Given the description of an element on the screen output the (x, y) to click on. 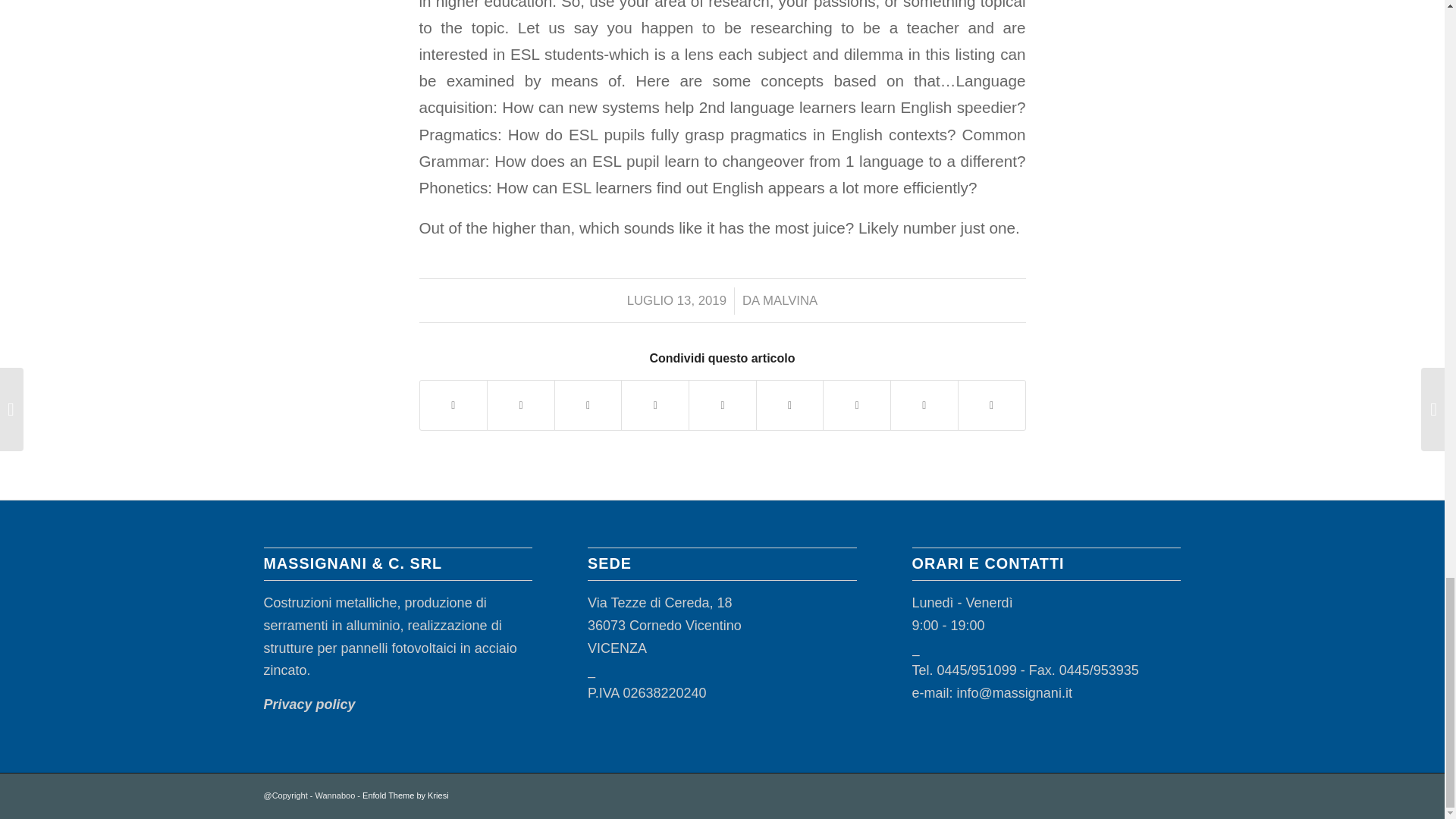
Articoli scritti da Malvina (789, 300)
MALVINA (789, 300)
Enfold Theme by Kriesi (405, 795)
Privacy policy (309, 703)
